Given the description of an element on the screen output the (x, y) to click on. 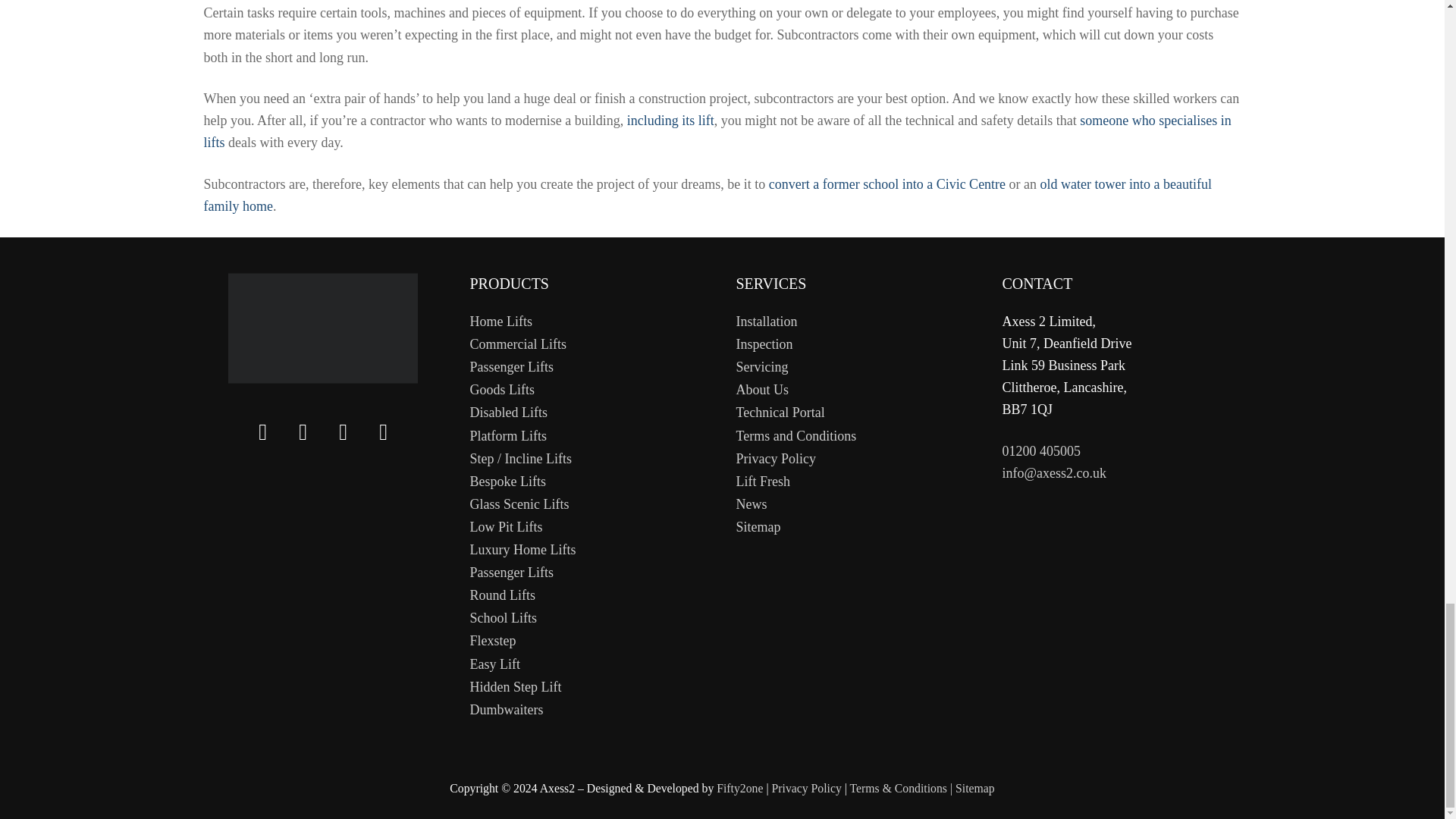
Twitter (263, 436)
Youtube (343, 436)
Email (383, 436)
Facebook (303, 436)
